Given the description of an element on the screen output the (x, y) to click on. 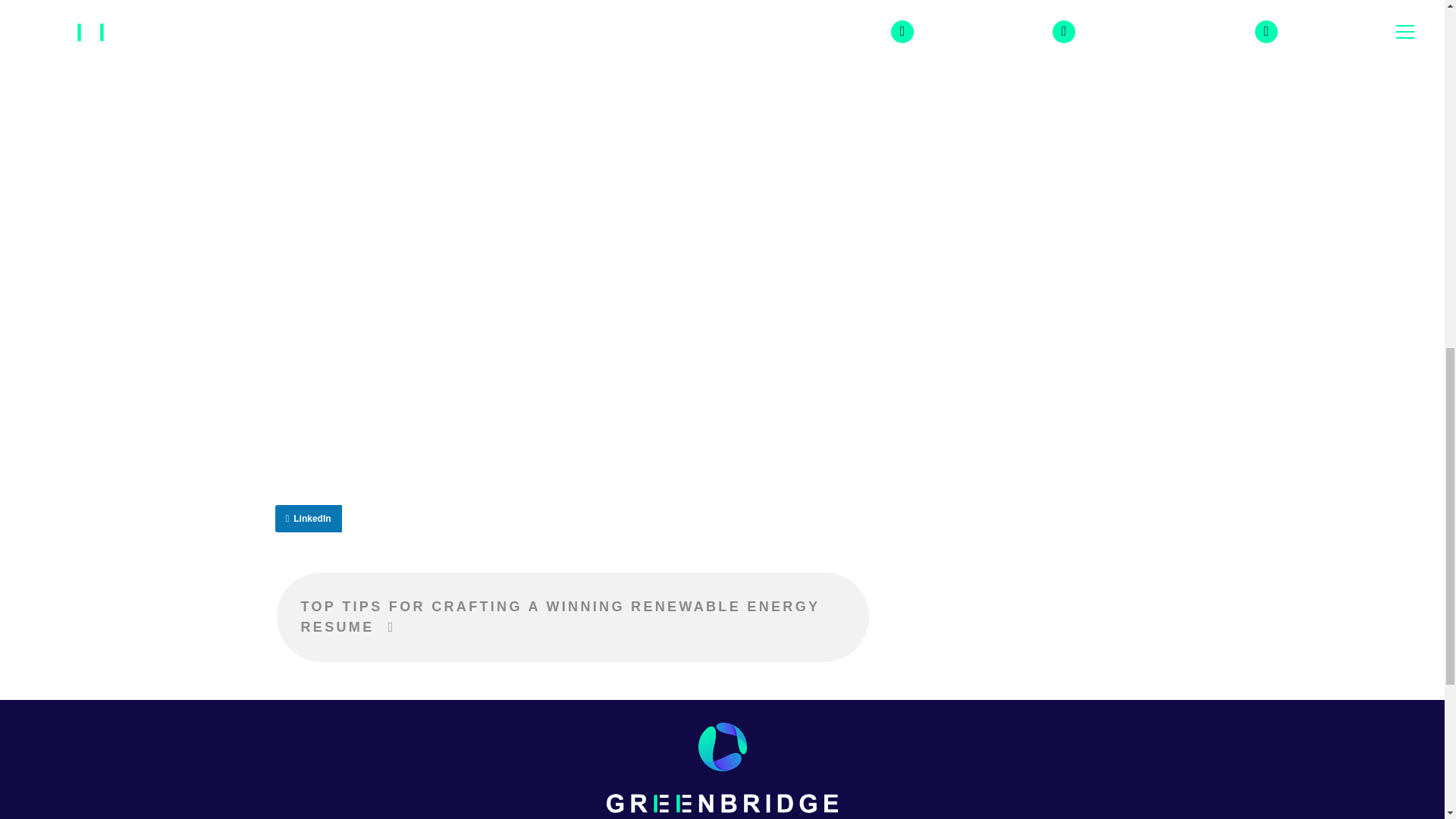
logo-word-greenbridge (722, 803)
TOP TIPS FOR CRAFTING A WINNING RENEWABLE ENERGY RESUME (572, 615)
LinkedIn (307, 518)
logo-img-circle (721, 746)
